Given the description of an element on the screen output the (x, y) to click on. 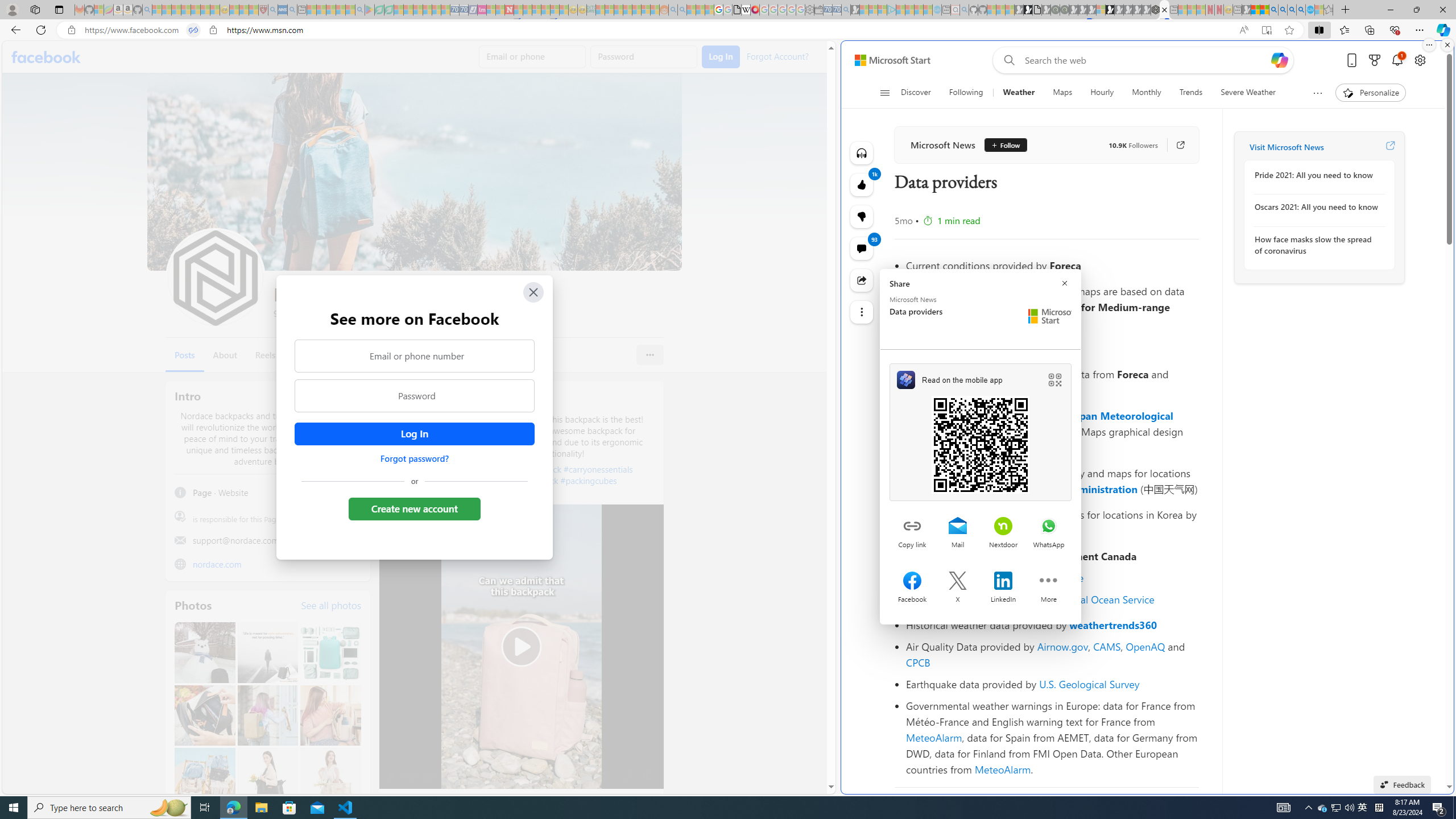
Monthly (1146, 92)
MediaWiki (754, 9)
China Meteorological Administration (1048, 489)
U.S. Geological Survey (1089, 684)
Canadian radar map data by Environment Canada (1051, 555)
